Given the description of an element on the screen output the (x, y) to click on. 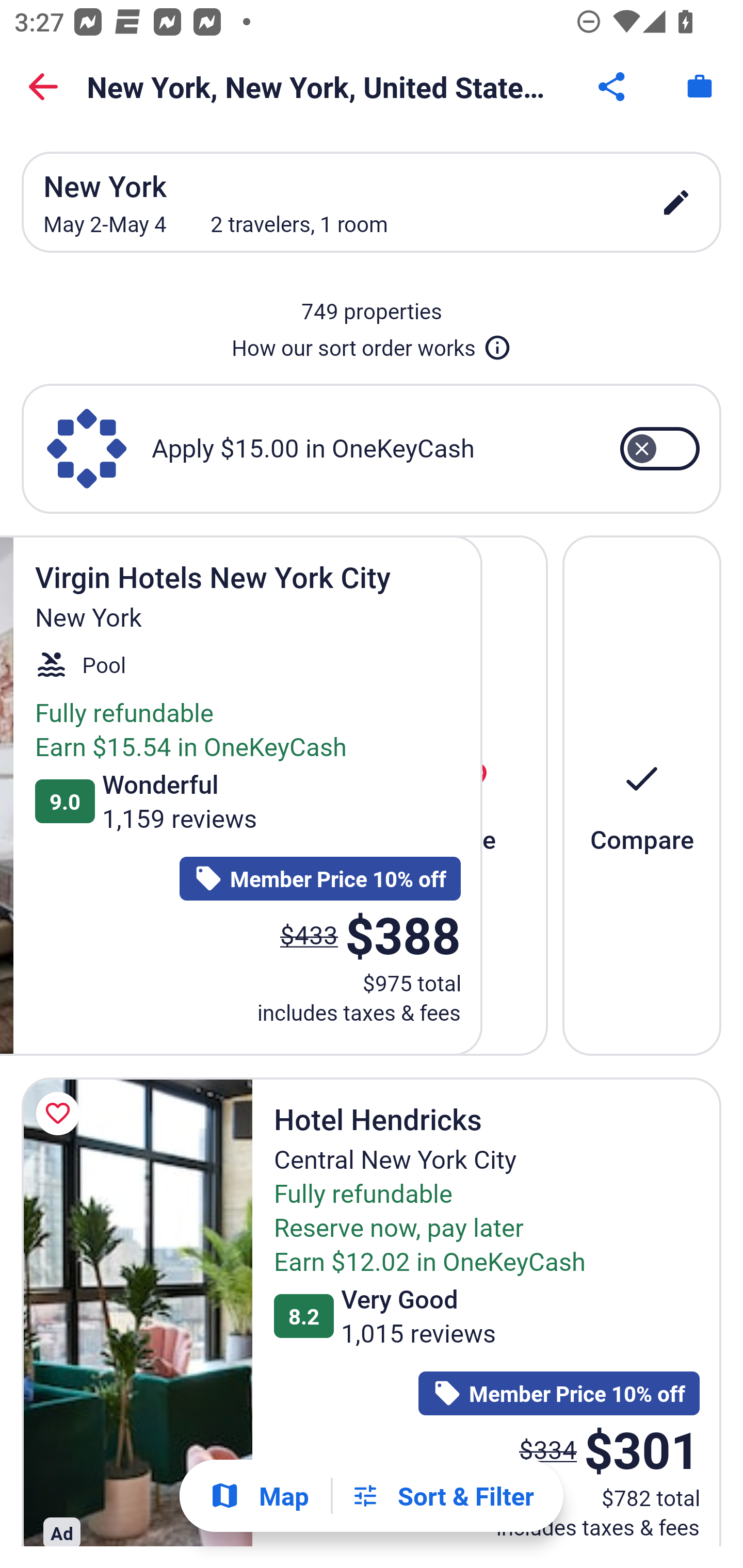
Back (43, 86)
Share Button (612, 86)
Trips. Button (699, 86)
New York May 2-May 4 2 travelers, 1 room edit (371, 202)
How our sort order works (371, 344)
Compare (641, 794)
$433 The price was $433 (308, 934)
Save Hotel Hendricks to a trip (61, 1113)
Hotel Hendricks (136, 1311)
$334 The price was $334 (547, 1449)
Filters Sort & Filter Filters Button (442, 1495)
Show map Map Show map Button (258, 1495)
